Given the description of an element on the screen output the (x, y) to click on. 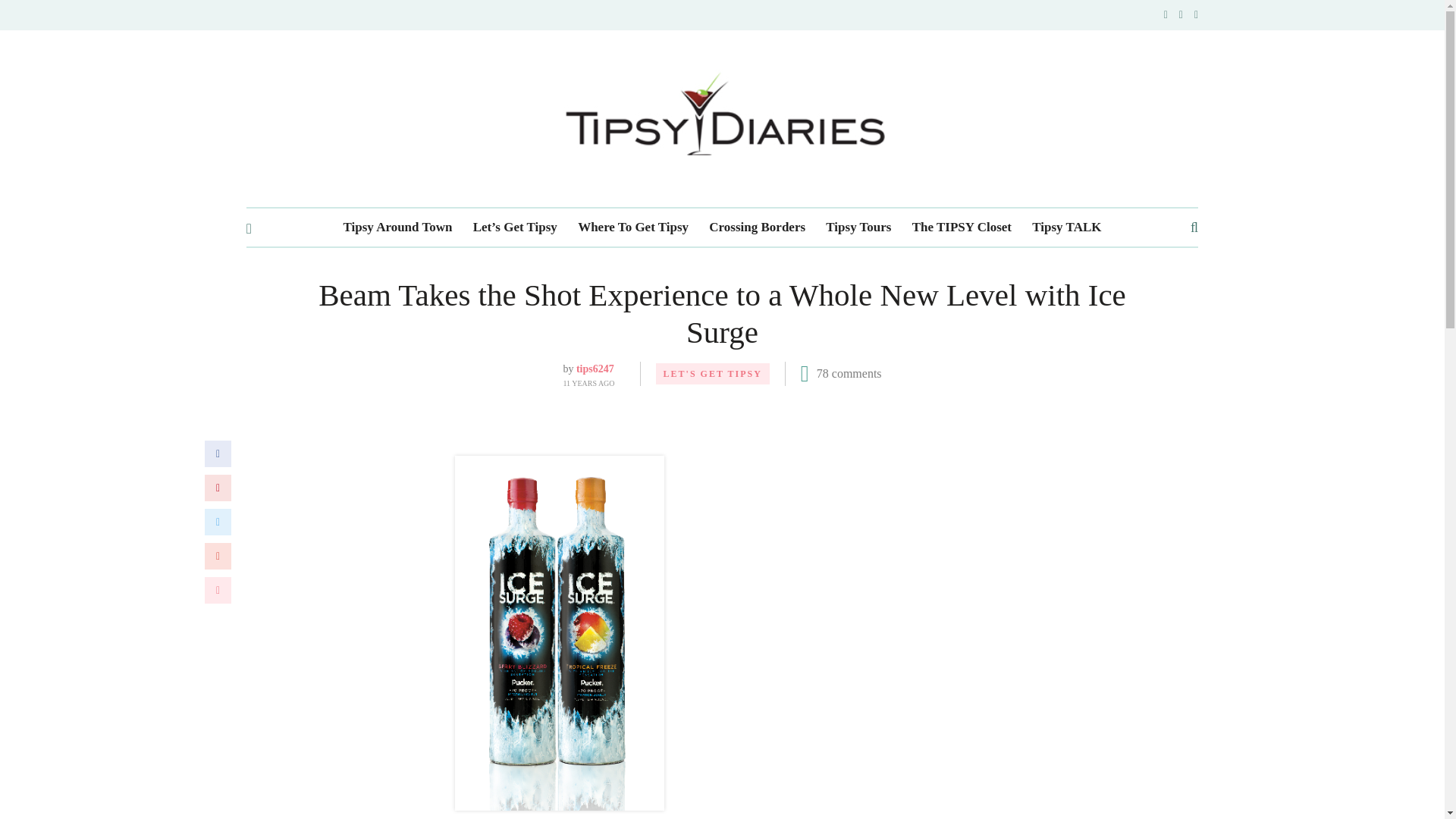
Where To Get Tipsy (633, 227)
Crossing Borders (757, 227)
Tipsy Around Town (397, 227)
LET'S GET TIPSY (713, 373)
The TIPSY Closet (961, 227)
tips6247 (595, 368)
Tipsy Tours (858, 227)
78 comments (849, 373)
Tipsy Diaries (722, 118)
Tipsy TALK (1066, 227)
